Given the description of an element on the screen output the (x, y) to click on. 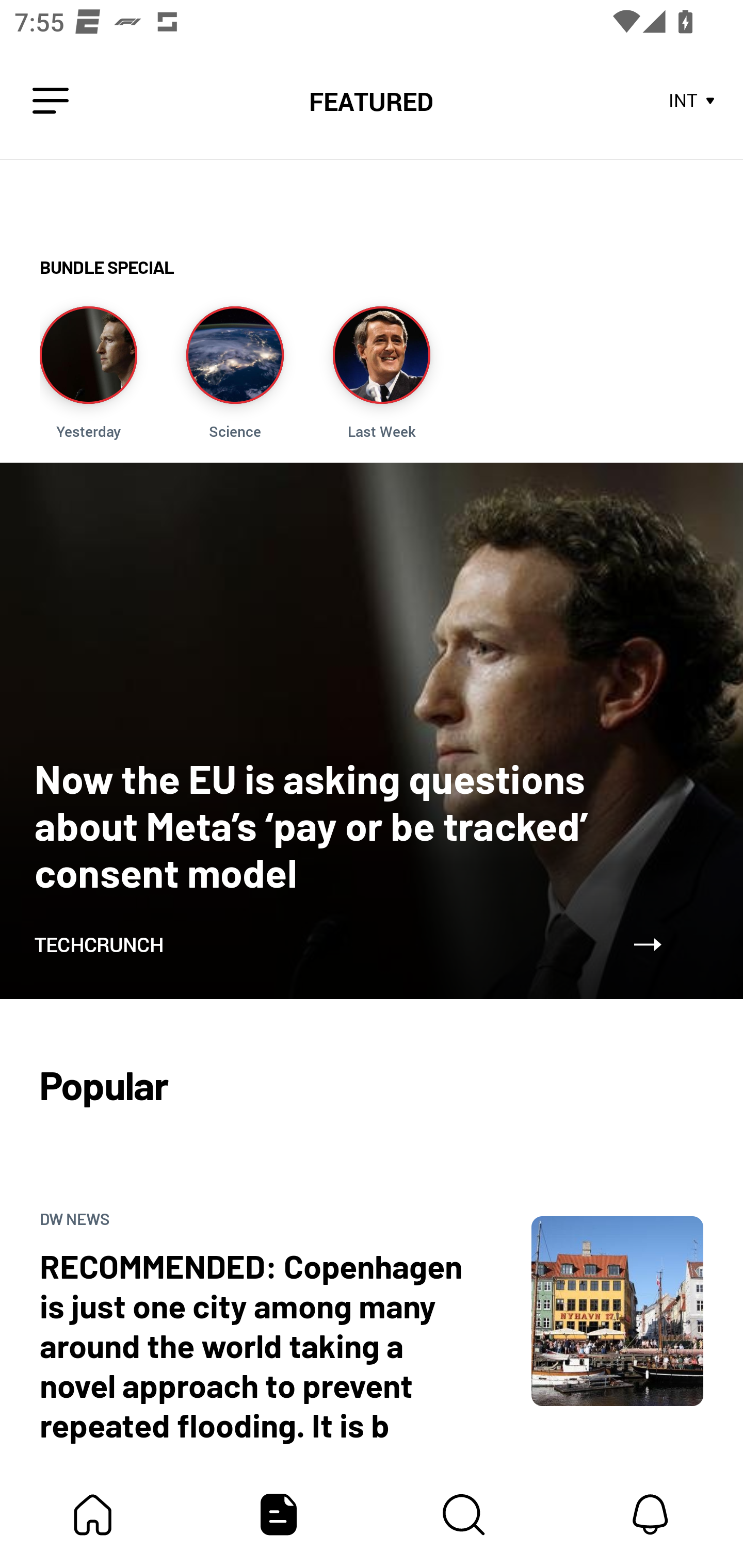
Leading Icon (50, 101)
INT Store Area (692, 101)
Story Image Yesterday (88, 372)
Story Image Science (234, 372)
Story Image Last Week (381, 372)
My Bundle (92, 1514)
Content Store (464, 1514)
Notifications (650, 1514)
